Given the description of an element on the screen output the (x, y) to click on. 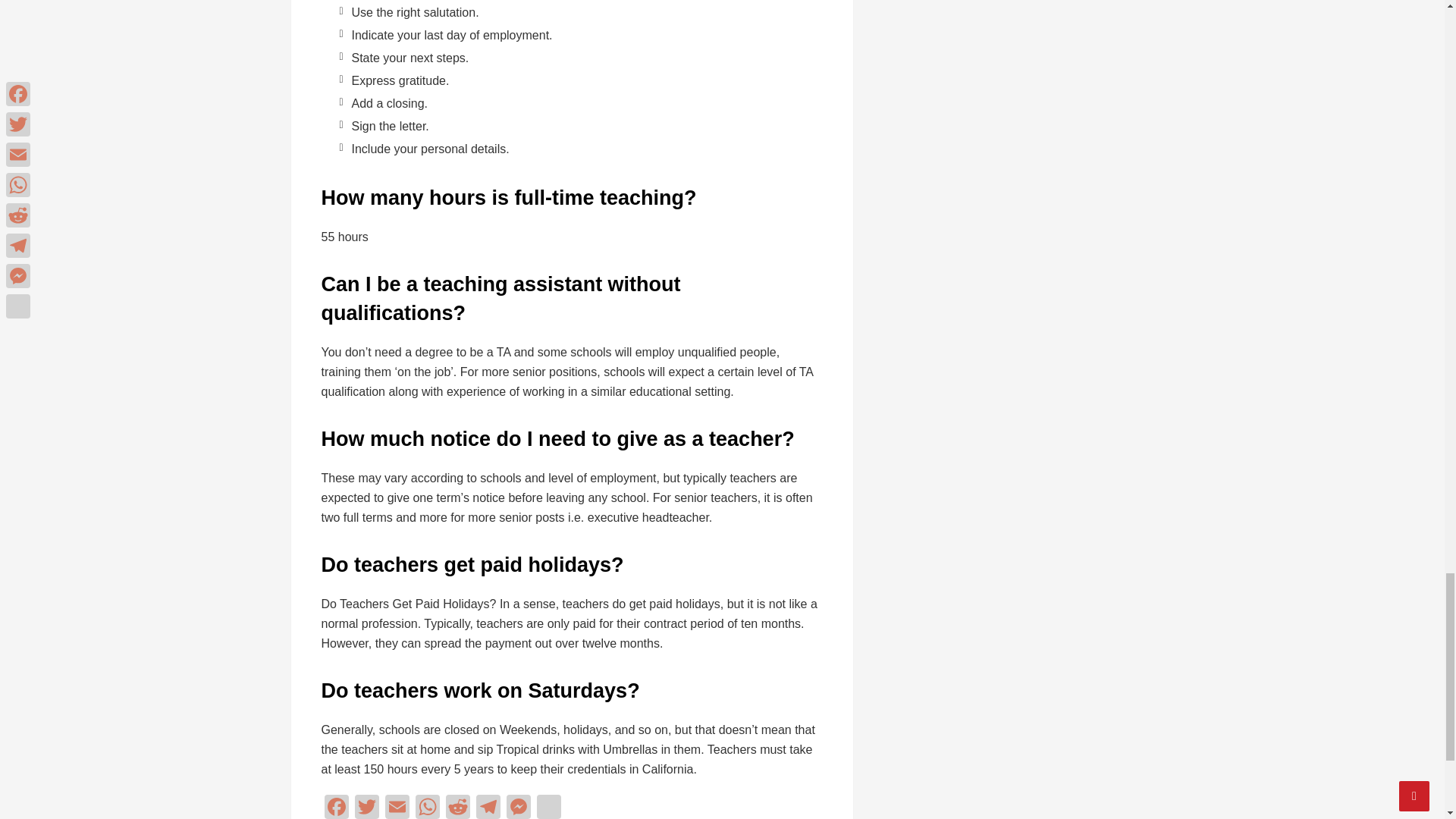
Reddit (457, 806)
Facebook (336, 806)
Twitter (366, 806)
Facebook (336, 806)
Email (396, 806)
Messenger (518, 806)
Twitter (366, 806)
WhatsApp (427, 806)
Telegram (488, 806)
